Given the description of an element on the screen output the (x, y) to click on. 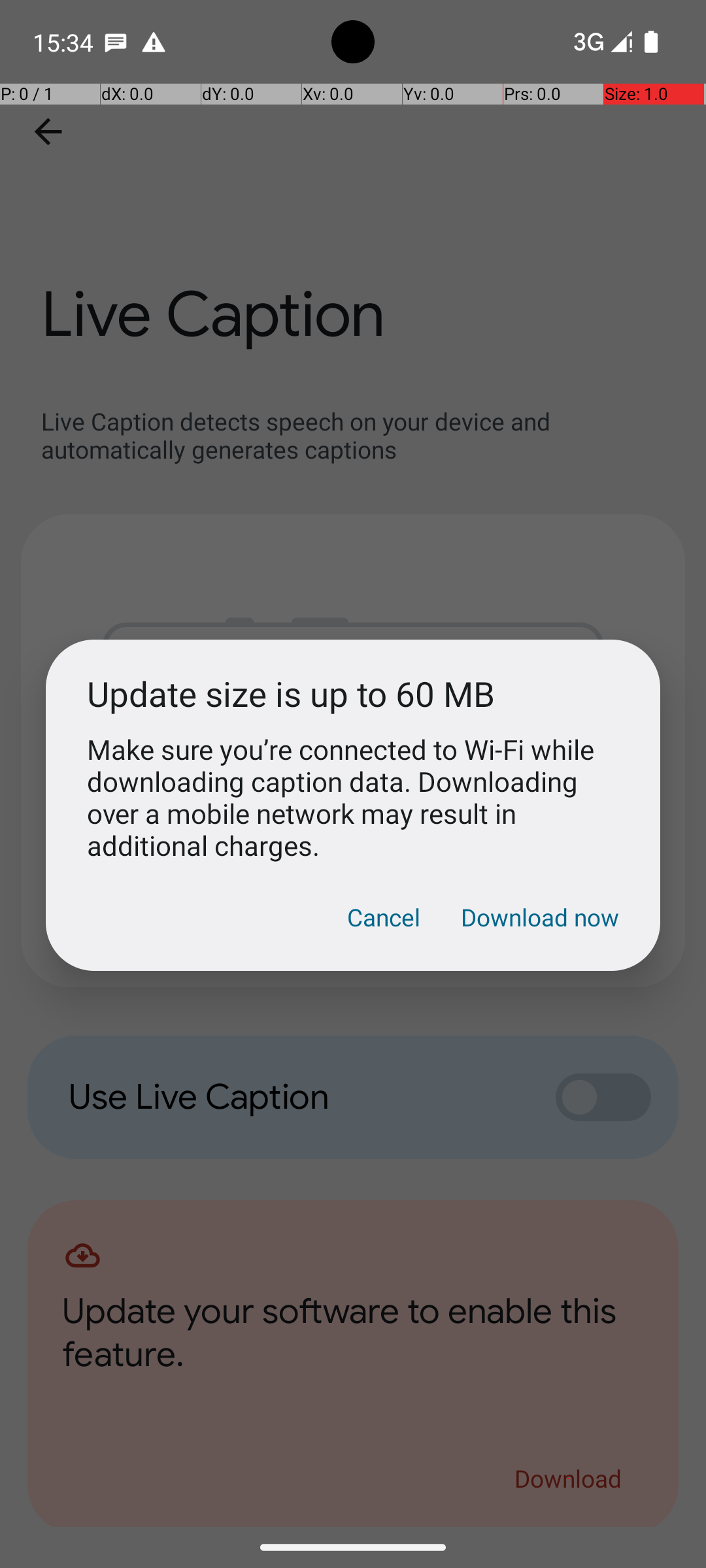
Update size is up to 60 MB Element type: android.widget.TextView (352, 693)
Make sure you’re connected to Wi-Fi while downloading caption data. Downloading over a mobile network may result in additional charges. Element type: android.widget.TextView (352, 796)
Download now Element type: android.widget.Button (539, 916)
